Given the description of an element on the screen output the (x, y) to click on. 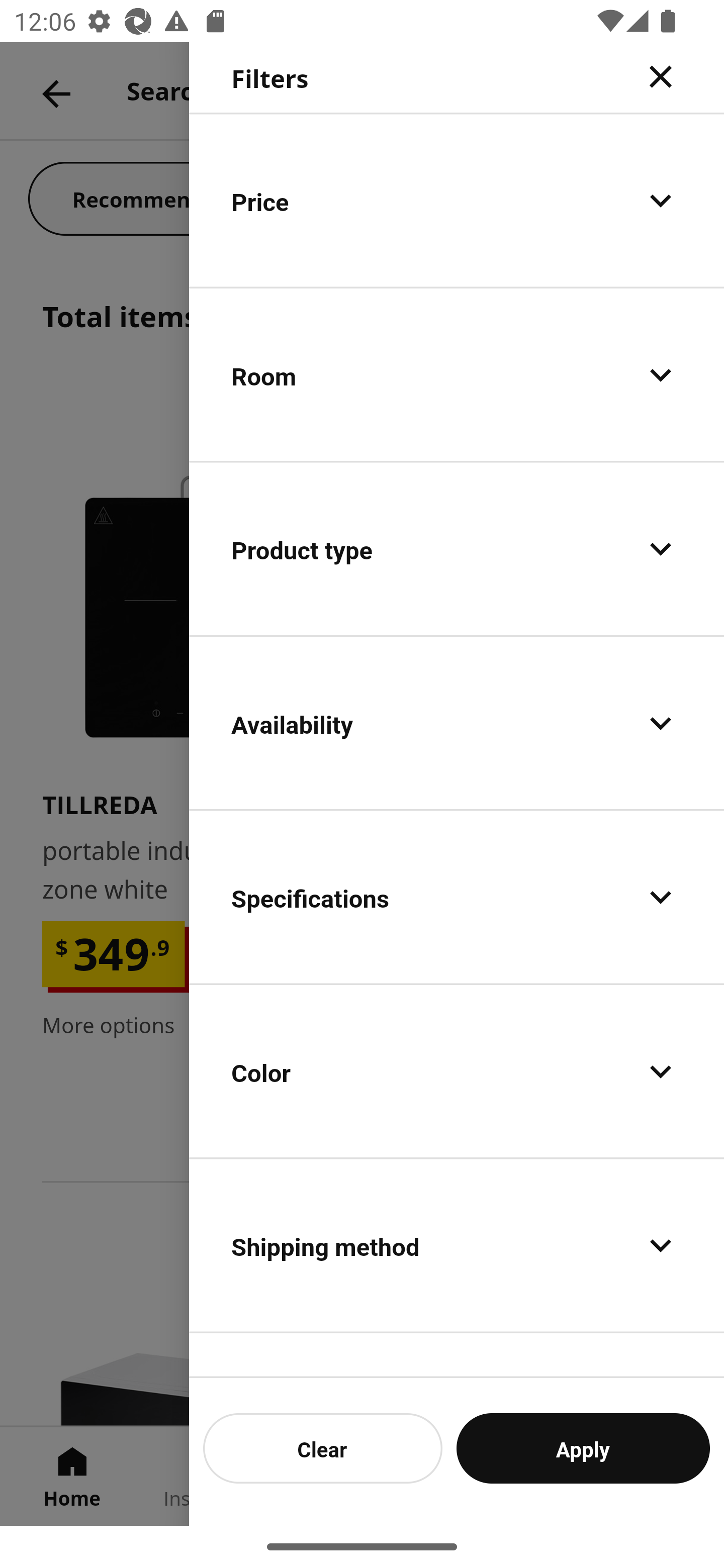
Price (456, 200)
Room (456, 374)
Product type (456, 548)
Availability (456, 722)
Specifications (456, 896)
Color (456, 1070)
Shipping method (456, 1244)
Clear (322, 1447)
Apply (583, 1447)
